Given the description of an element on the screen output the (x, y) to click on. 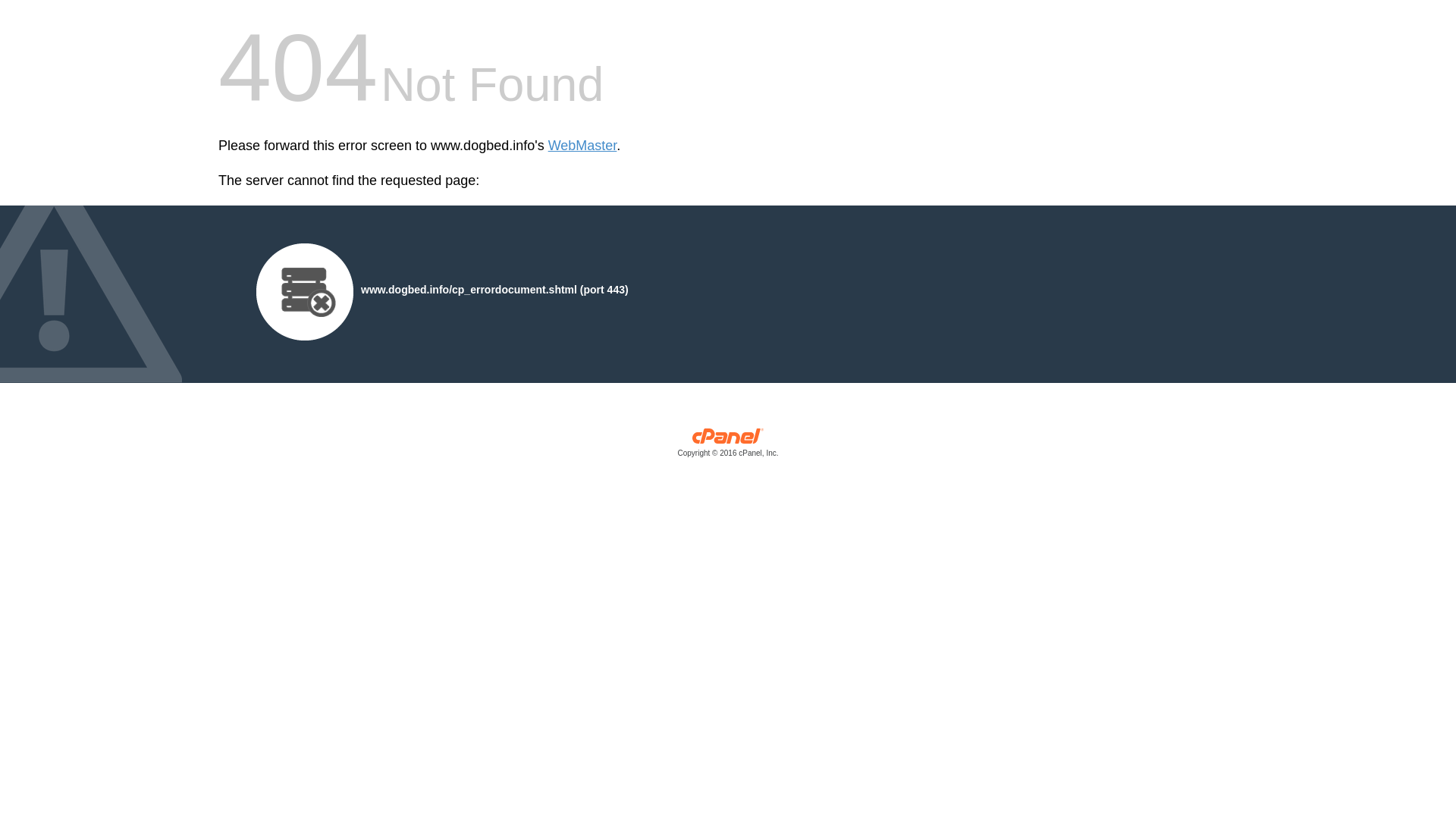
cPanel, Inc. (727, 446)
WebMaster (582, 145)
